Given the description of an element on the screen output the (x, y) to click on. 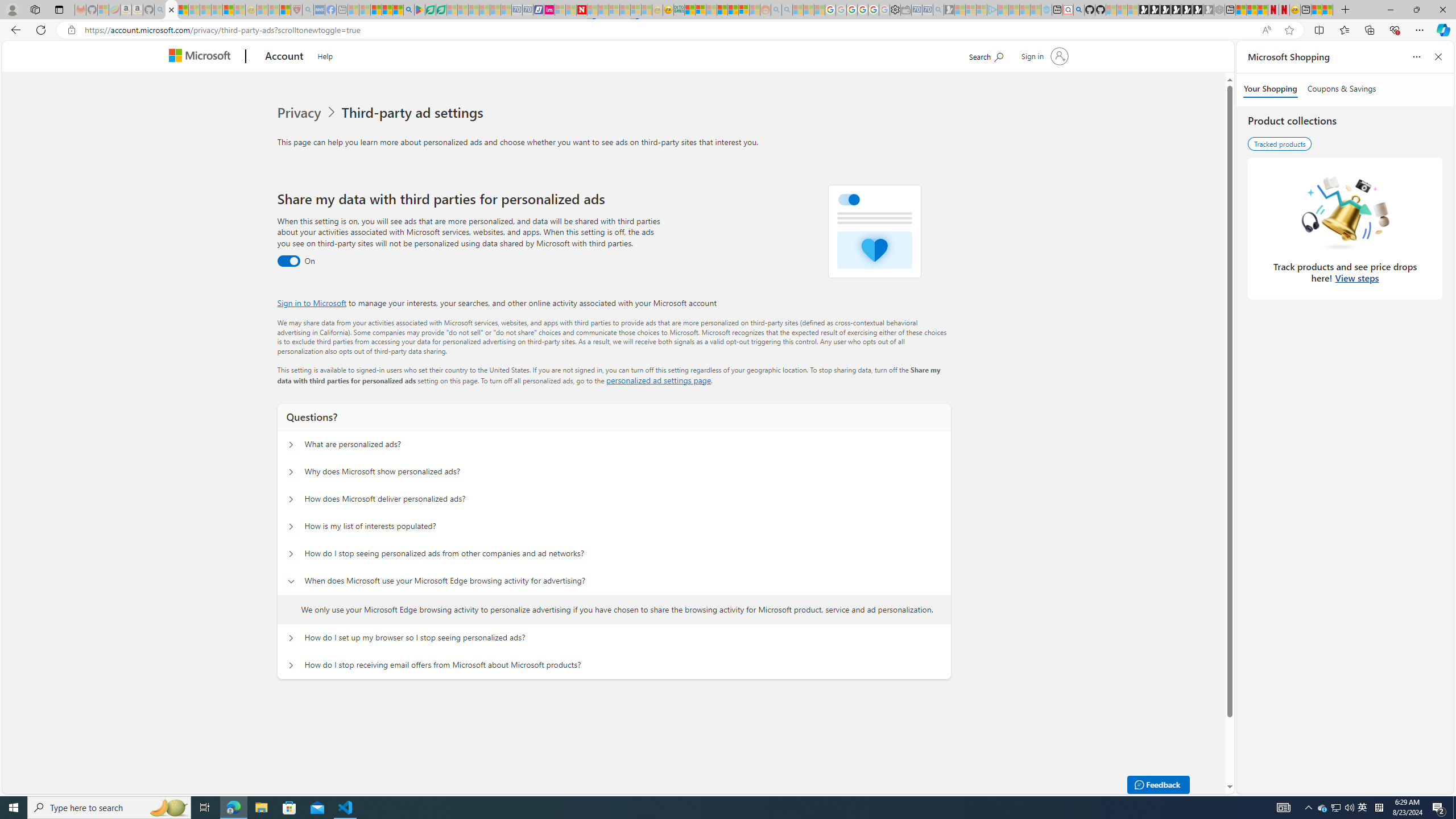
Jobs - lastminute.com Investor Portal (548, 9)
